Given the description of an element on the screen output the (x, y) to click on. 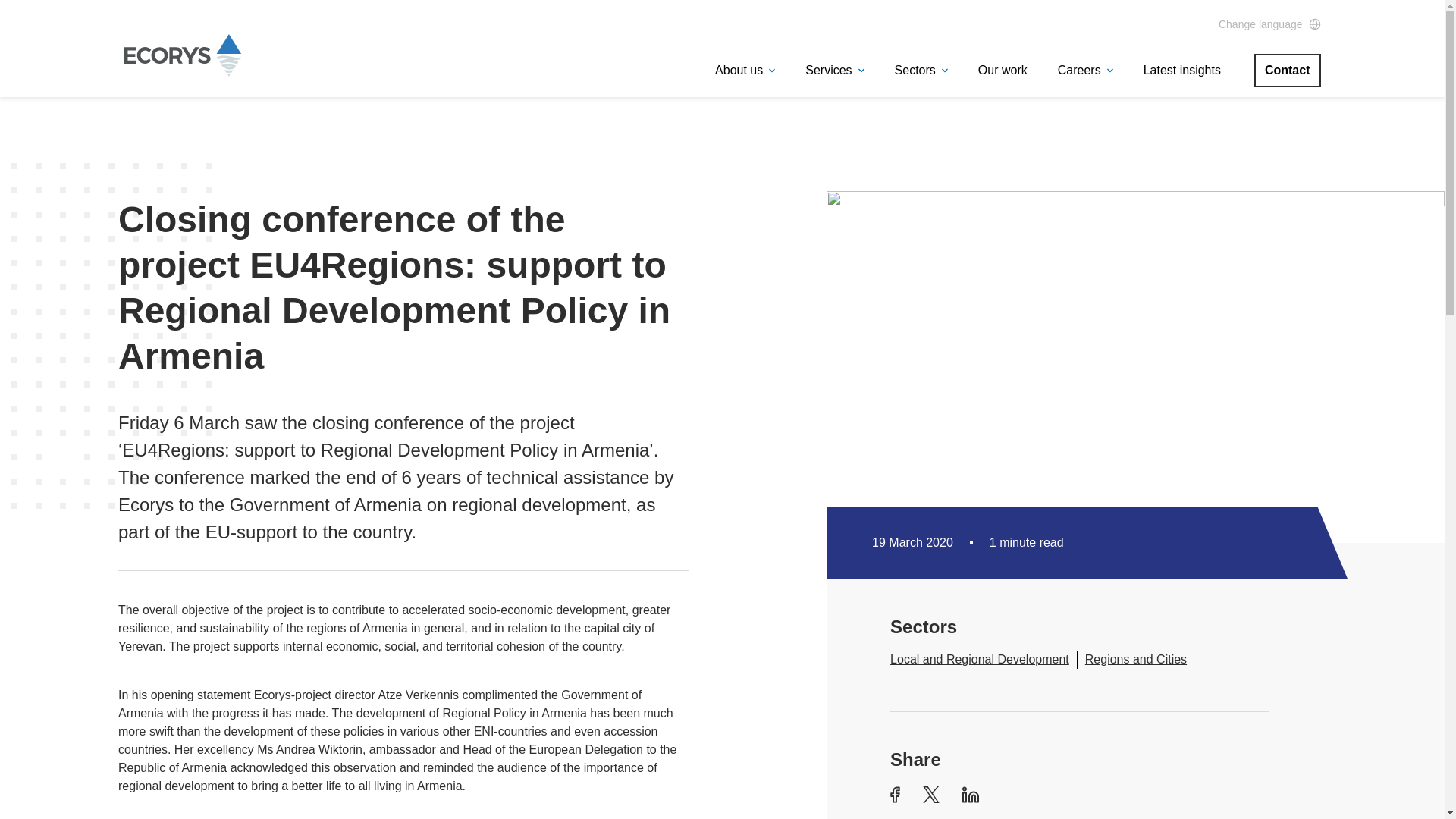
Ecorys (182, 71)
About us (745, 69)
Change language (1269, 24)
Sectors (920, 69)
Ecorys (182, 54)
Services (834, 69)
